Given the description of an element on the screen output the (x, y) to click on. 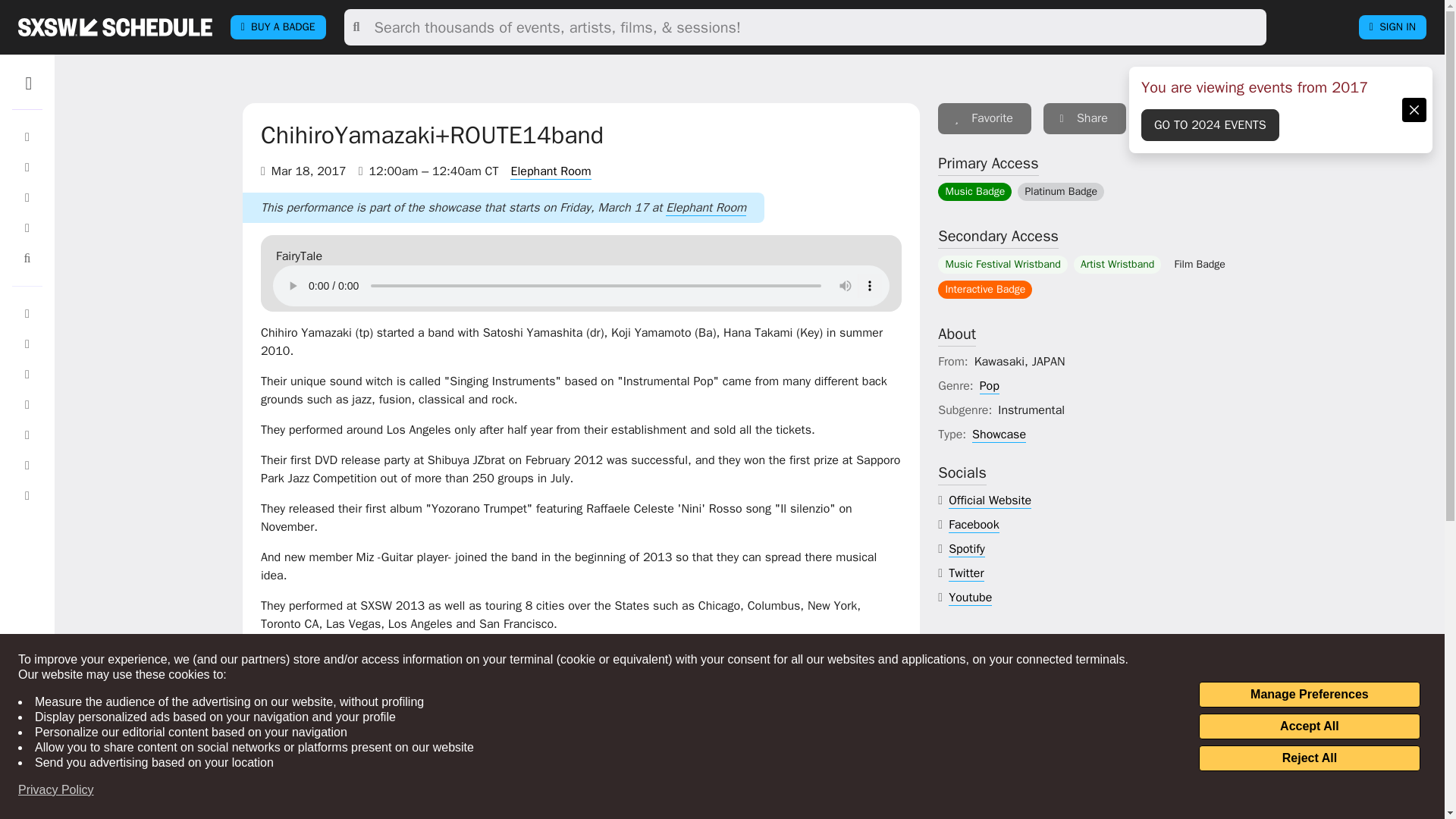
Accept All (1309, 726)
Privacy Policy (55, 789)
spotify (967, 549)
SIGN IN (1392, 27)
youtube (970, 597)
sxsw SCHEDULE (114, 27)
Elephant Room (551, 171)
Reject All (1309, 758)
Manage Preferences (1309, 694)
website (989, 500)
